Given the description of an element on the screen output the (x, y) to click on. 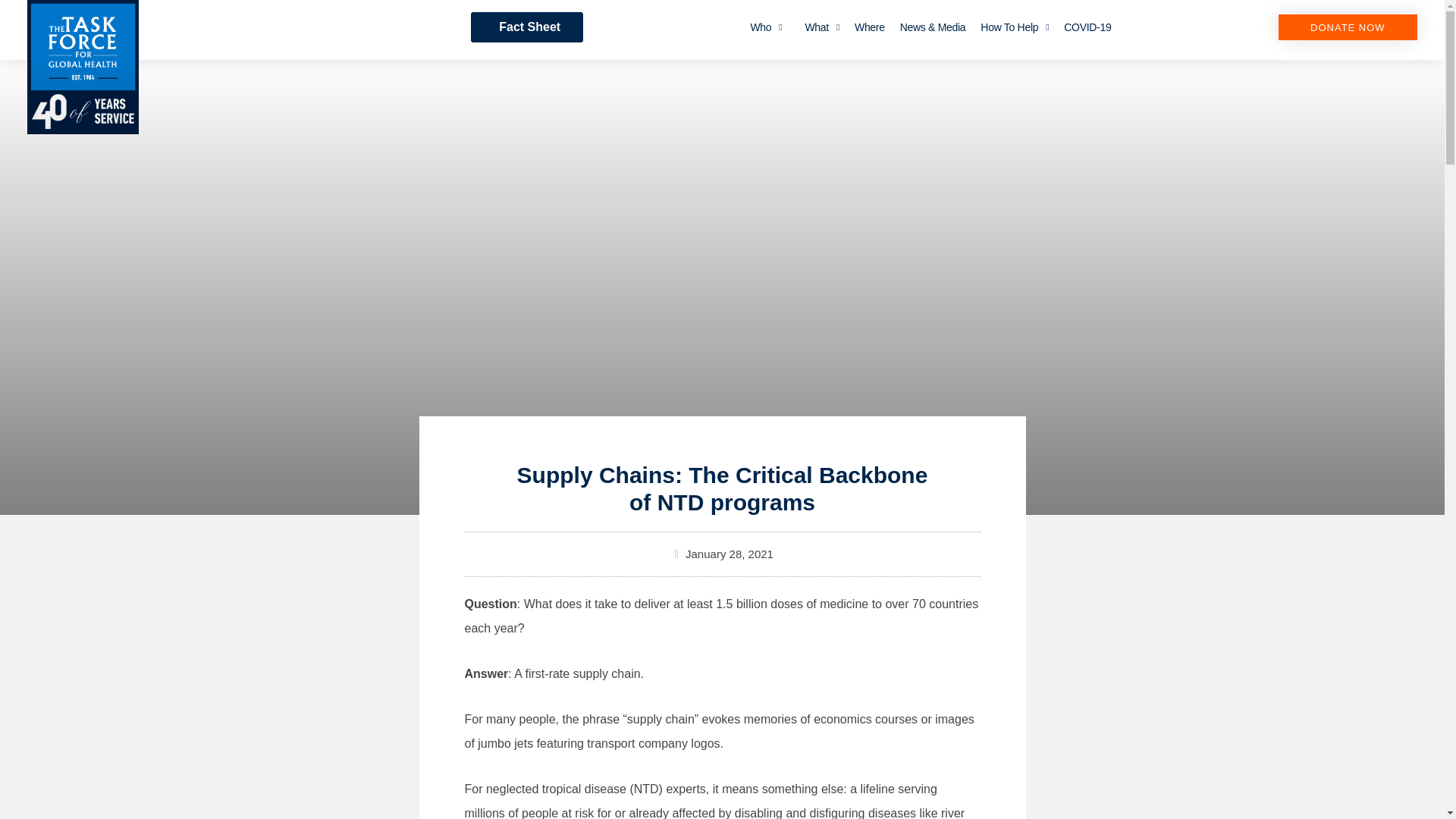
Who (765, 27)
Fact Sheet (526, 27)
How To Help (1014, 27)
What (821, 27)
COVID-19 (1087, 27)
Where (869, 27)
